Given the description of an element on the screen output the (x, y) to click on. 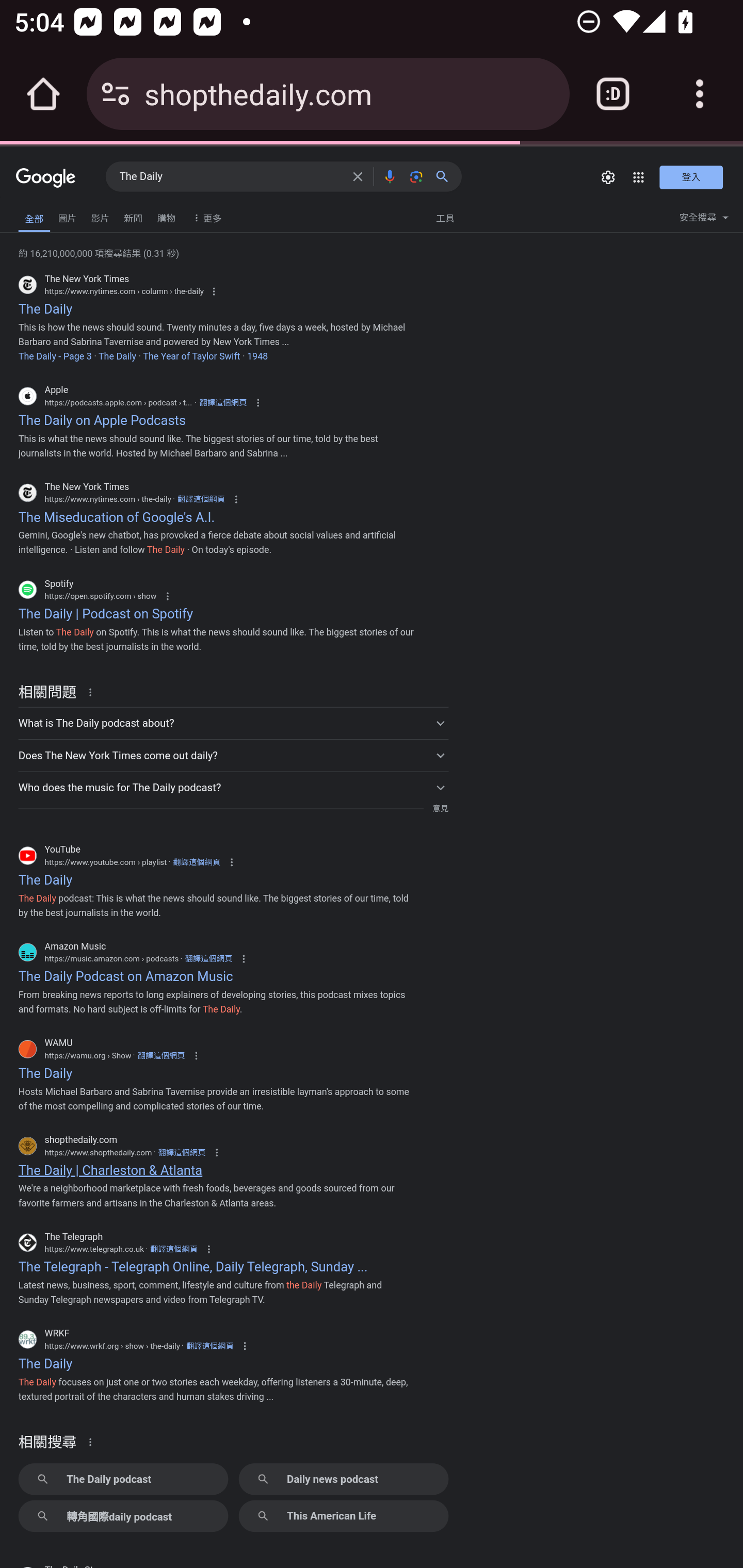
Open the home page (43, 93)
Connection is secure (115, 93)
Switch or close tabs (612, 93)
Customize and control Google Chrome (699, 93)
shopthedaily.com (349, 92)
